Given the description of an element on the screen output the (x, y) to click on. 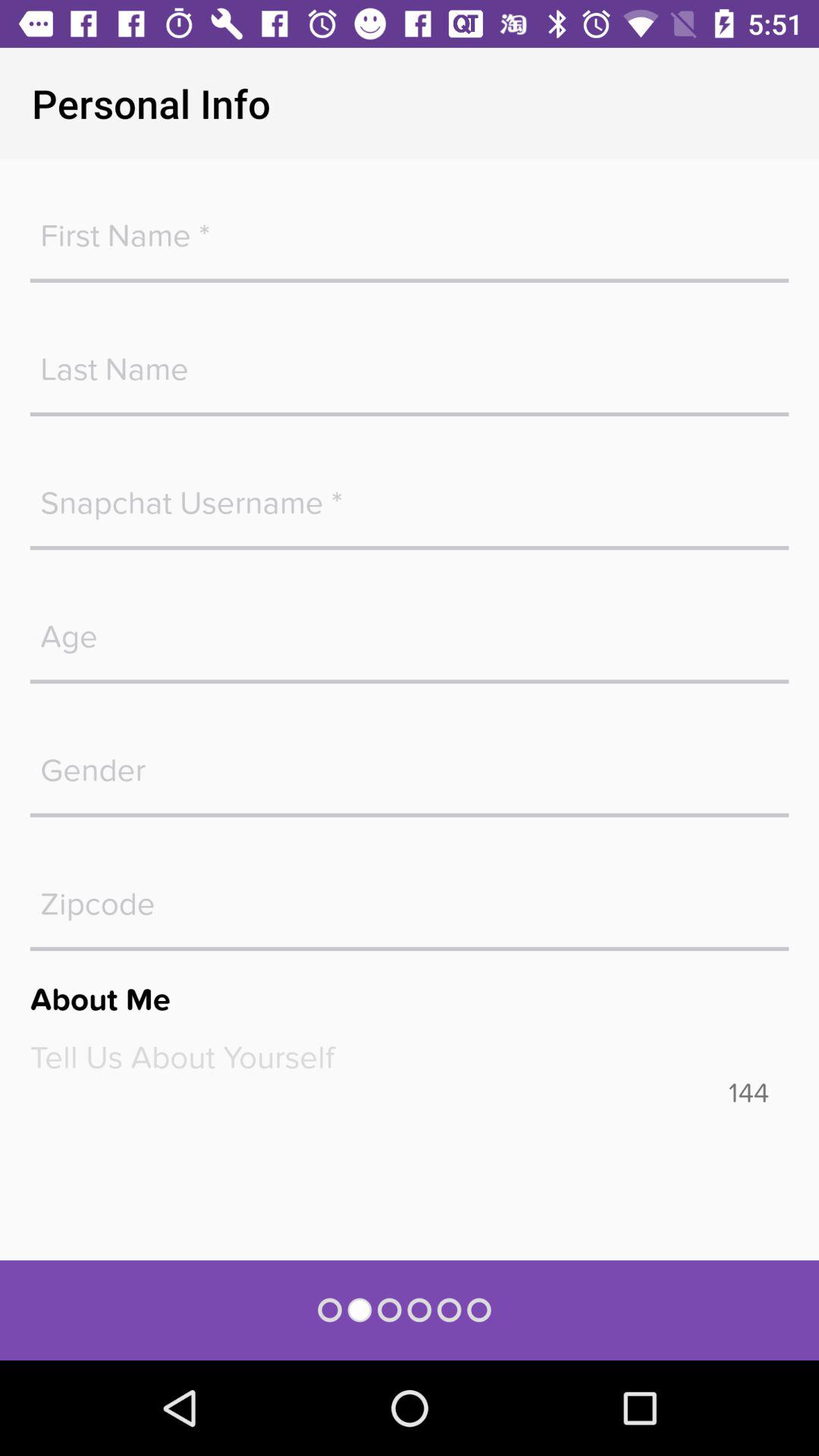
input name (409, 227)
